Given the description of an element on the screen output the (x, y) to click on. 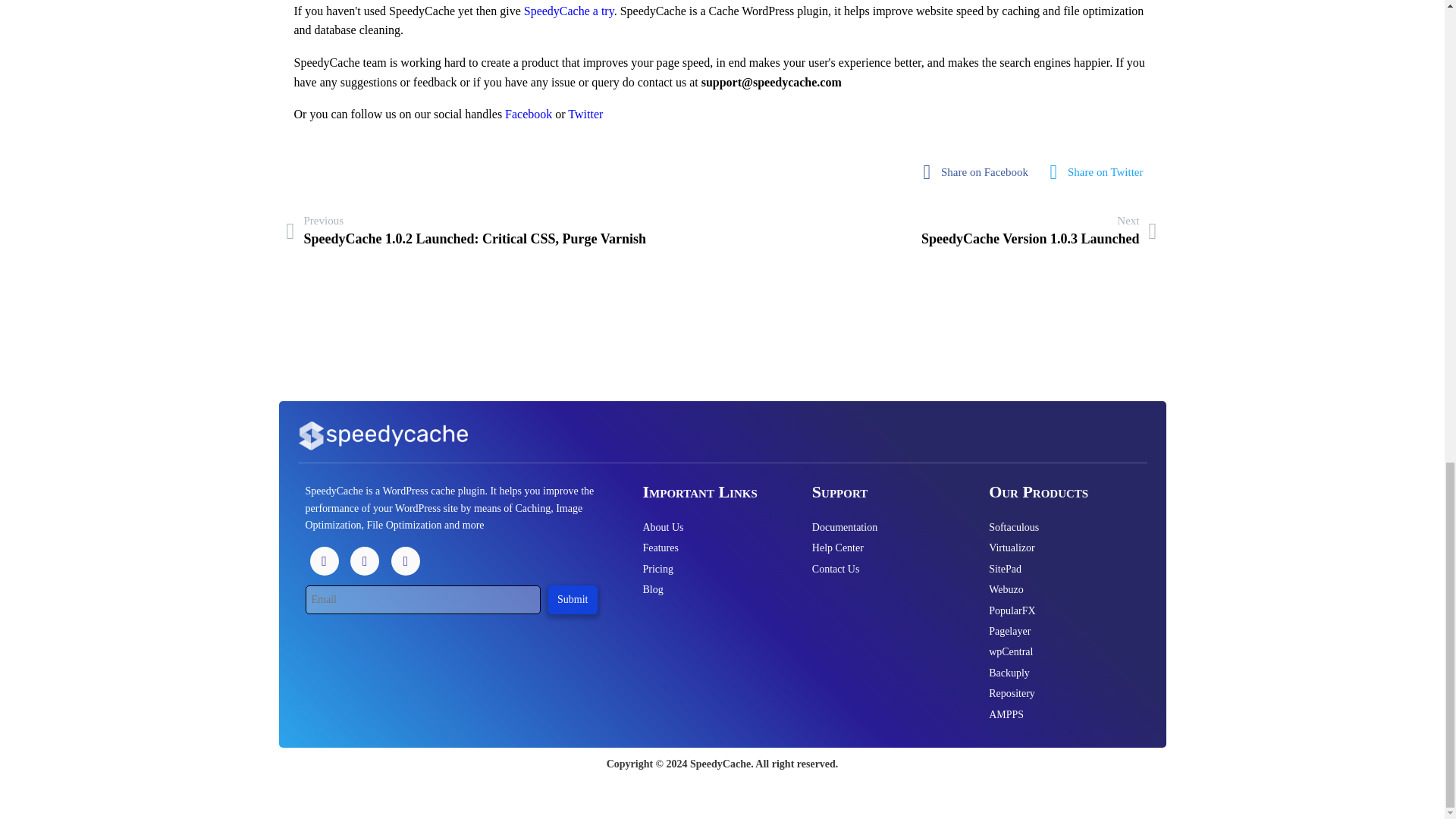
Virtualizor (1057, 548)
Pagelayer (1057, 631)
Twitter (584, 113)
fab fa-twitter-square (1100, 171)
SitePad (1057, 568)
Features (708, 548)
Pricing (708, 568)
Share on Twitter (1100, 171)
fab fa-facebook-square (980, 171)
Help Center (881, 548)
